Given the description of an element on the screen output the (x, y) to click on. 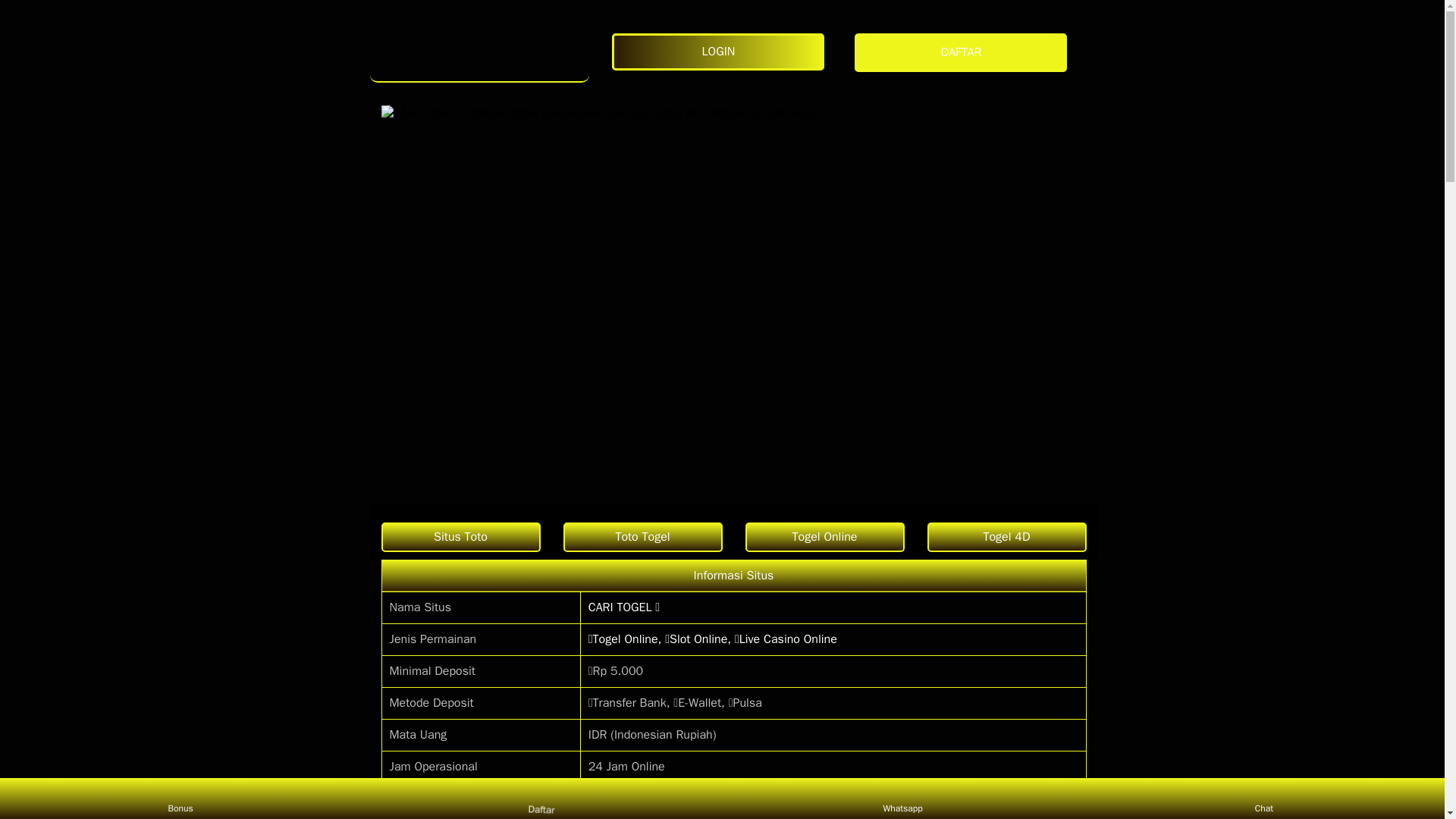
Situs Toto (460, 537)
Bonus (180, 797)
LOGIN (721, 51)
Whatsapp (903, 797)
Togel Online (824, 537)
Togel 4D (1006, 537)
Togel Online (824, 537)
Daftar (537, 795)
Togel 4D (1006, 537)
DAFTAR (964, 52)
